Given the description of an element on the screen output the (x, y) to click on. 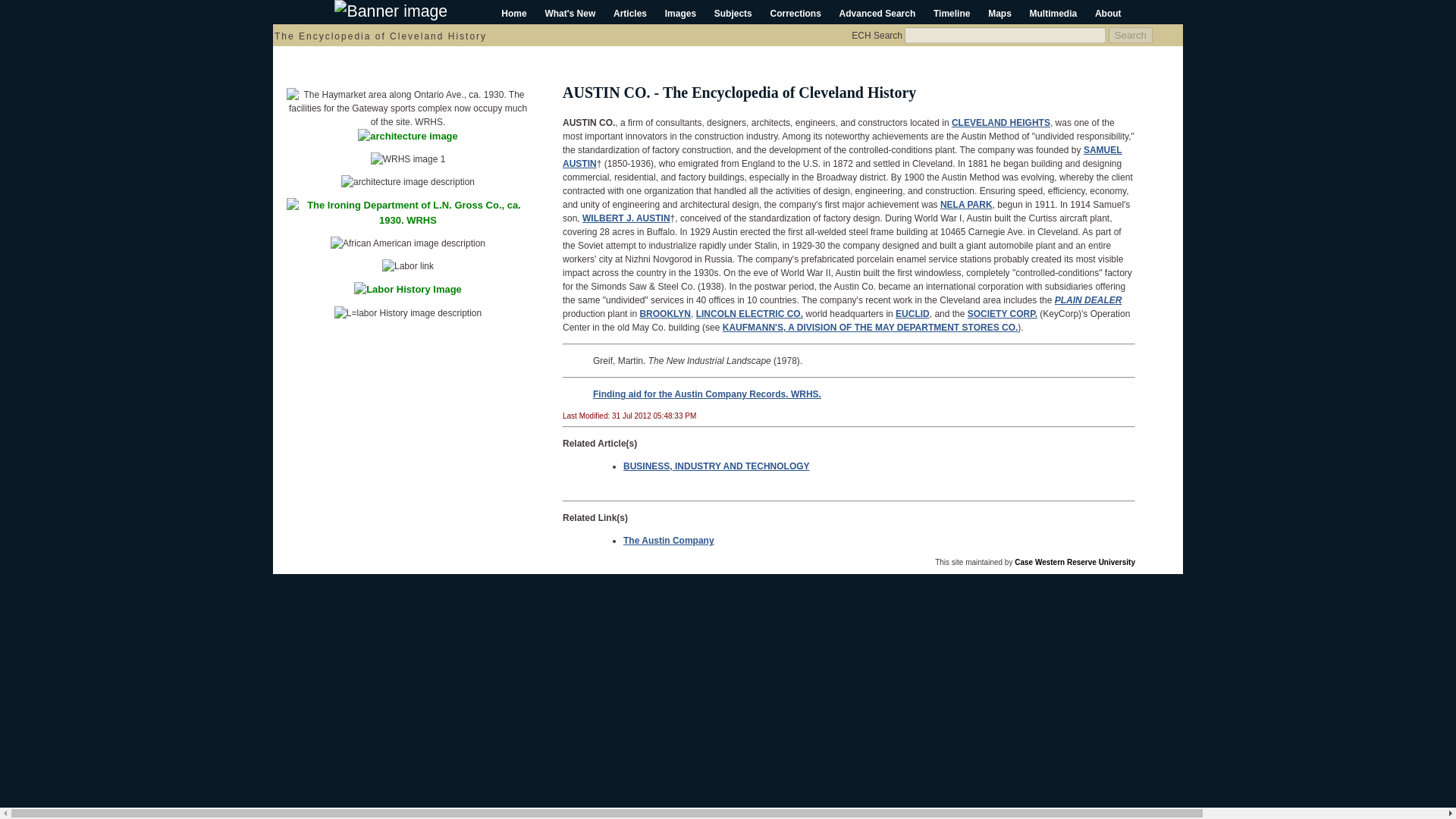
Subjects (733, 13)
Maps (999, 13)
SAMUEL AUSTIN (842, 156)
Home (512, 13)
Advanced Search (877, 13)
LINCOLN ELECTRIC CO. (749, 313)
NELA PARK (966, 204)
Multimedia (1053, 13)
PLAIN DEALER (1088, 299)
The Austin Company (668, 540)
What's New (569, 13)
Timeline (951, 13)
Search (1130, 35)
Finding aid for the Austin Company Records. WRHS. (706, 394)
BROOKLYN (664, 313)
